Given the description of an element on the screen output the (x, y) to click on. 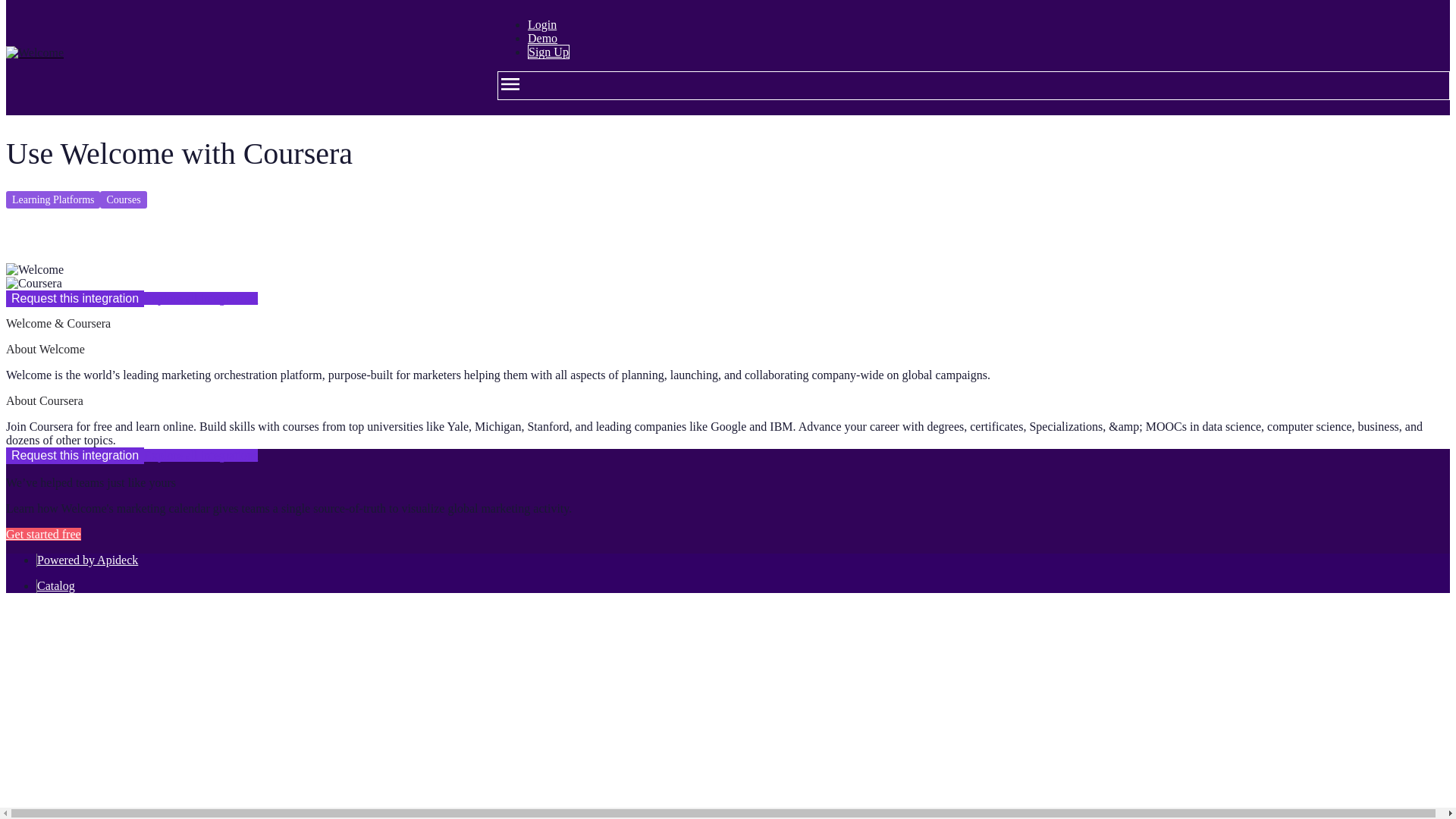
Request this integration (74, 455)
Coursera (33, 283)
Sign Up (548, 51)
Request this integration (74, 298)
Demo (542, 38)
Catalog (56, 585)
Powered by Apideck (87, 559)
Login (541, 24)
Explore all integrations (200, 297)
Get started free (43, 533)
